Given the description of an element on the screen output the (x, y) to click on. 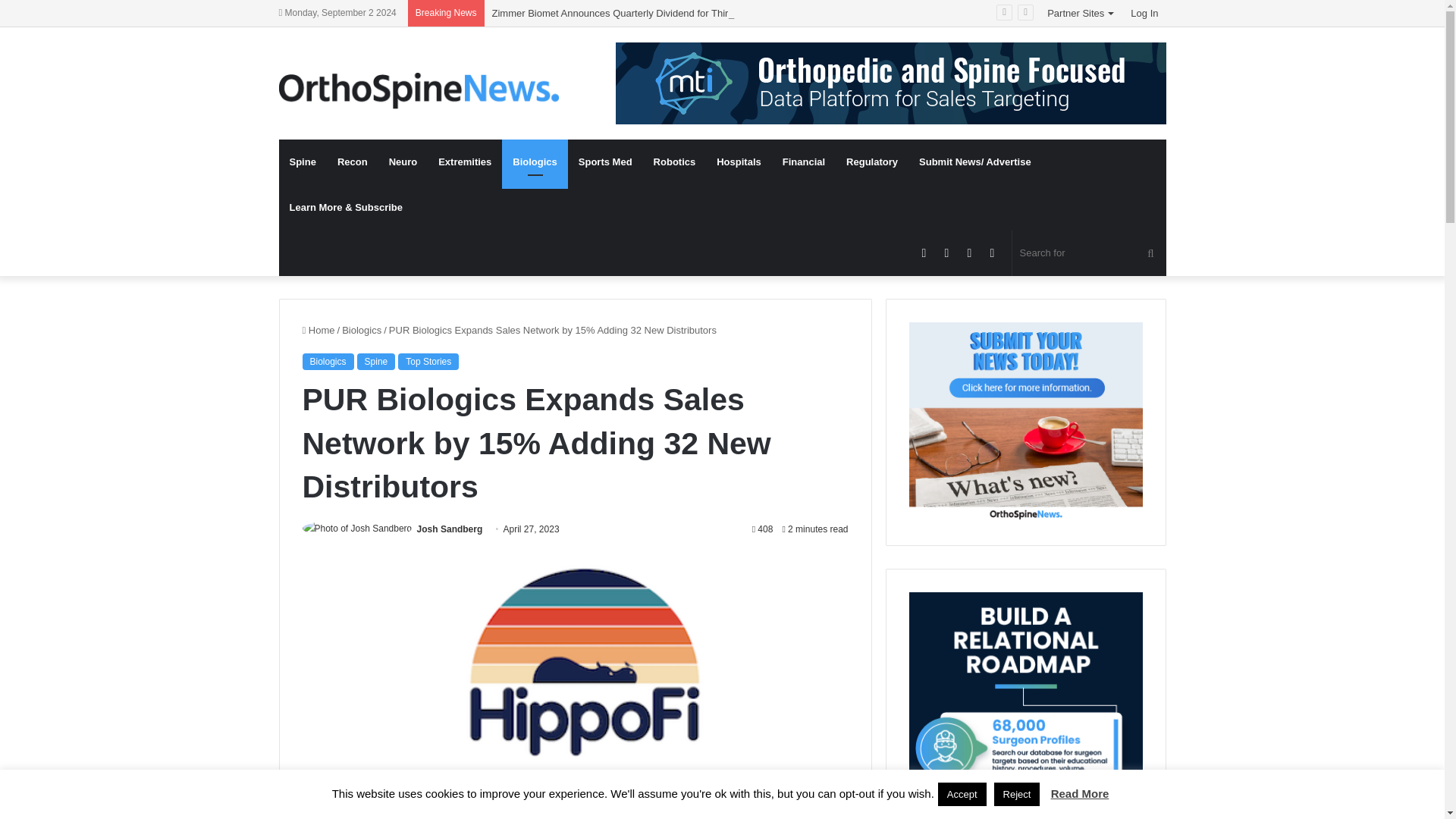
Robotics (674, 162)
Regulatory (871, 162)
Partner Sites (1080, 13)
Spine (376, 361)
Biologics (534, 162)
Search for (1088, 253)
Spine (302, 162)
Biologics (361, 329)
Josh Sandberg (449, 529)
Josh Sandberg (449, 529)
